Given the description of an element on the screen output the (x, y) to click on. 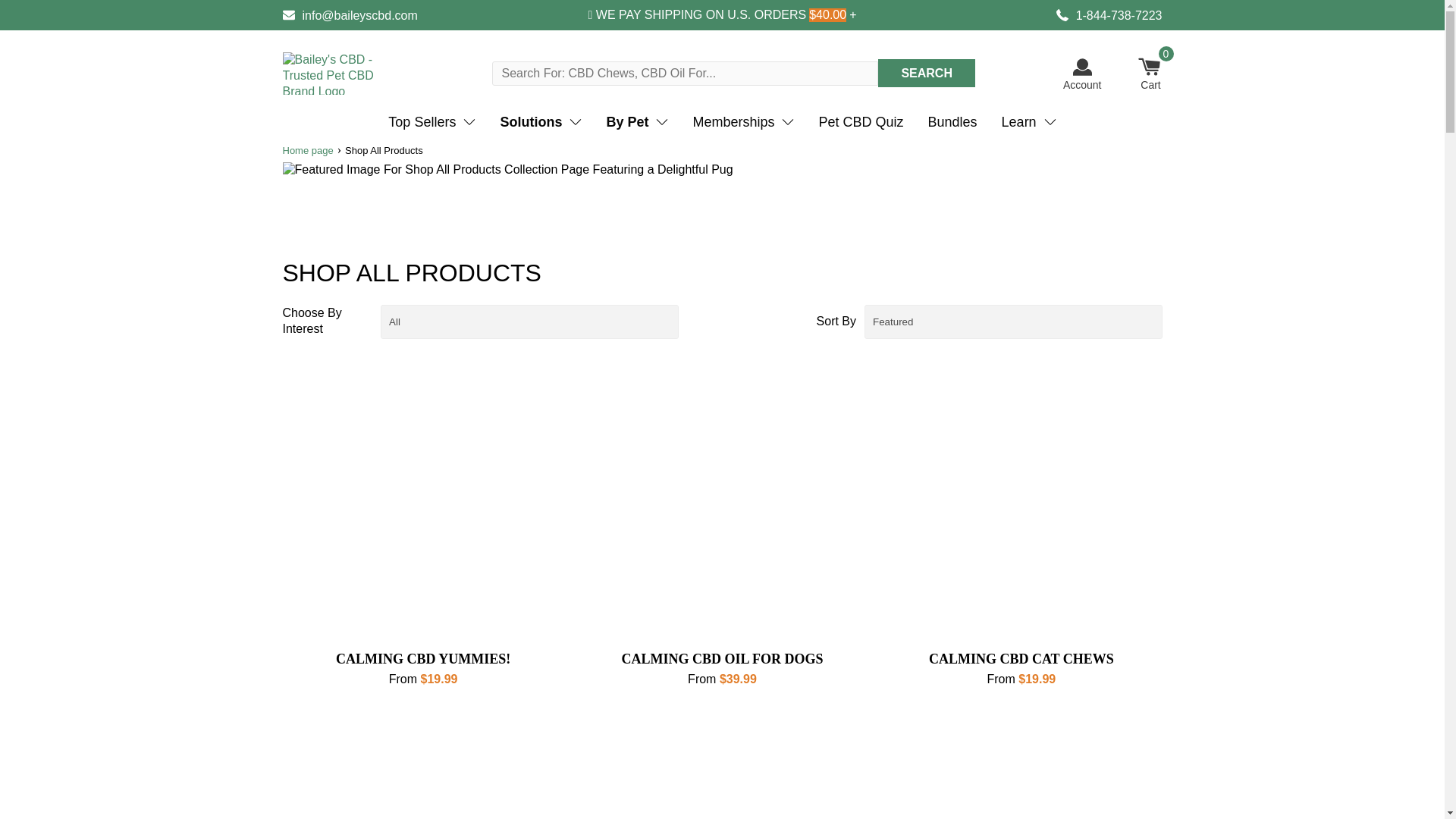
Top sellers (431, 122)
Account (1082, 74)
1-844-738-7223 (1109, 15)
SEARCH (925, 72)
Memberships (742, 122)
Store Email (349, 15)
By Pet (636, 122)
Solutions (540, 122)
Top Sellers (431, 122)
Store Phone (1109, 15)
Solutions (540, 122)
Account (1082, 74)
